Given the description of an element on the screen output the (x, y) to click on. 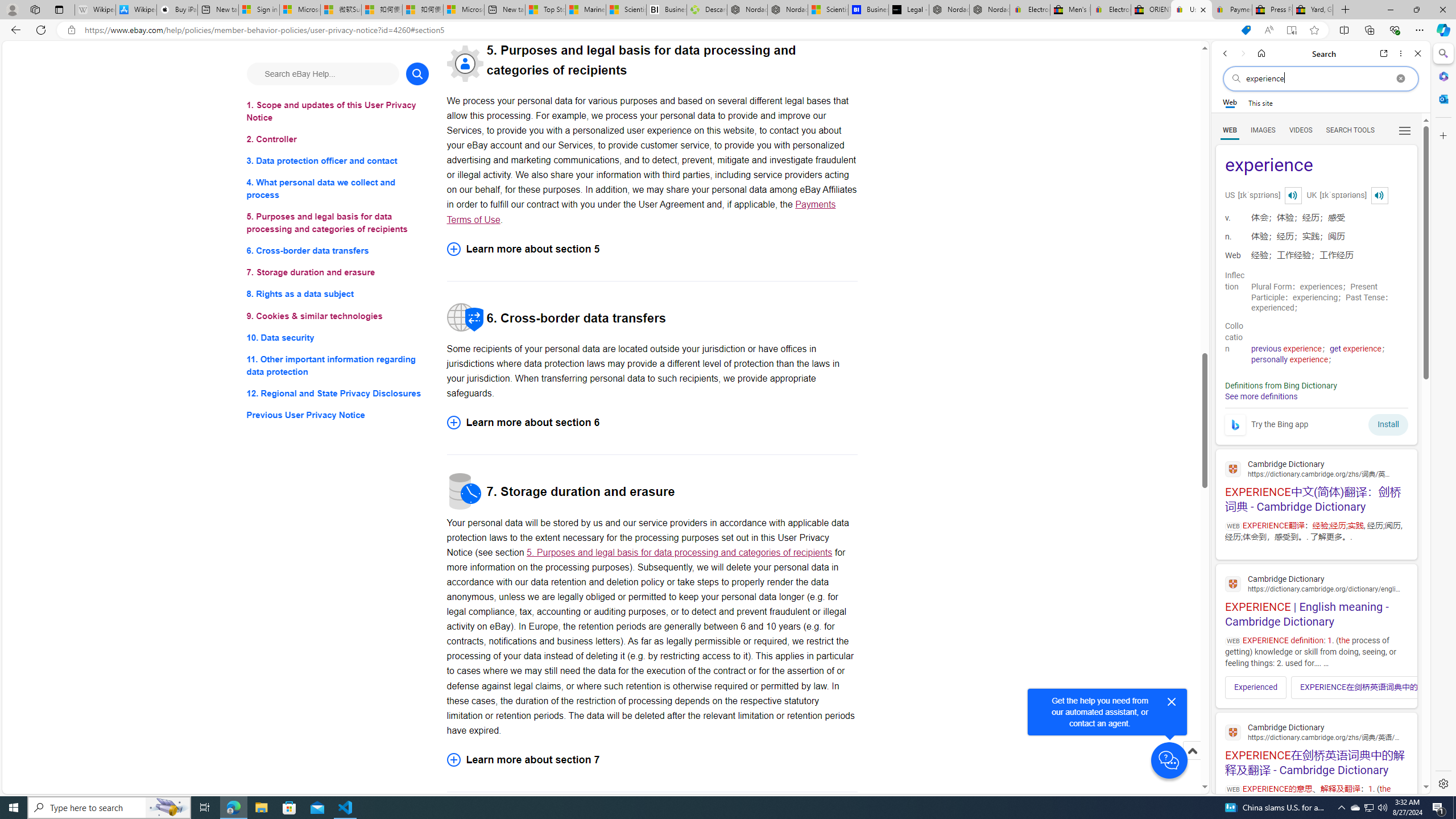
12. Regional and State Privacy Disclosures (337, 392)
Scroll to top (1191, 750)
Microsoft account | Account Checkup (463, 9)
10. Data security (337, 336)
EXPERIENCE | English meaning - Cambridge Dictionary (1315, 599)
This site has coupons! Shopping in Microsoft Edge (1245, 29)
1. Scope and updates of this User Privacy Notice (337, 111)
